Given the description of an element on the screen output the (x, y) to click on. 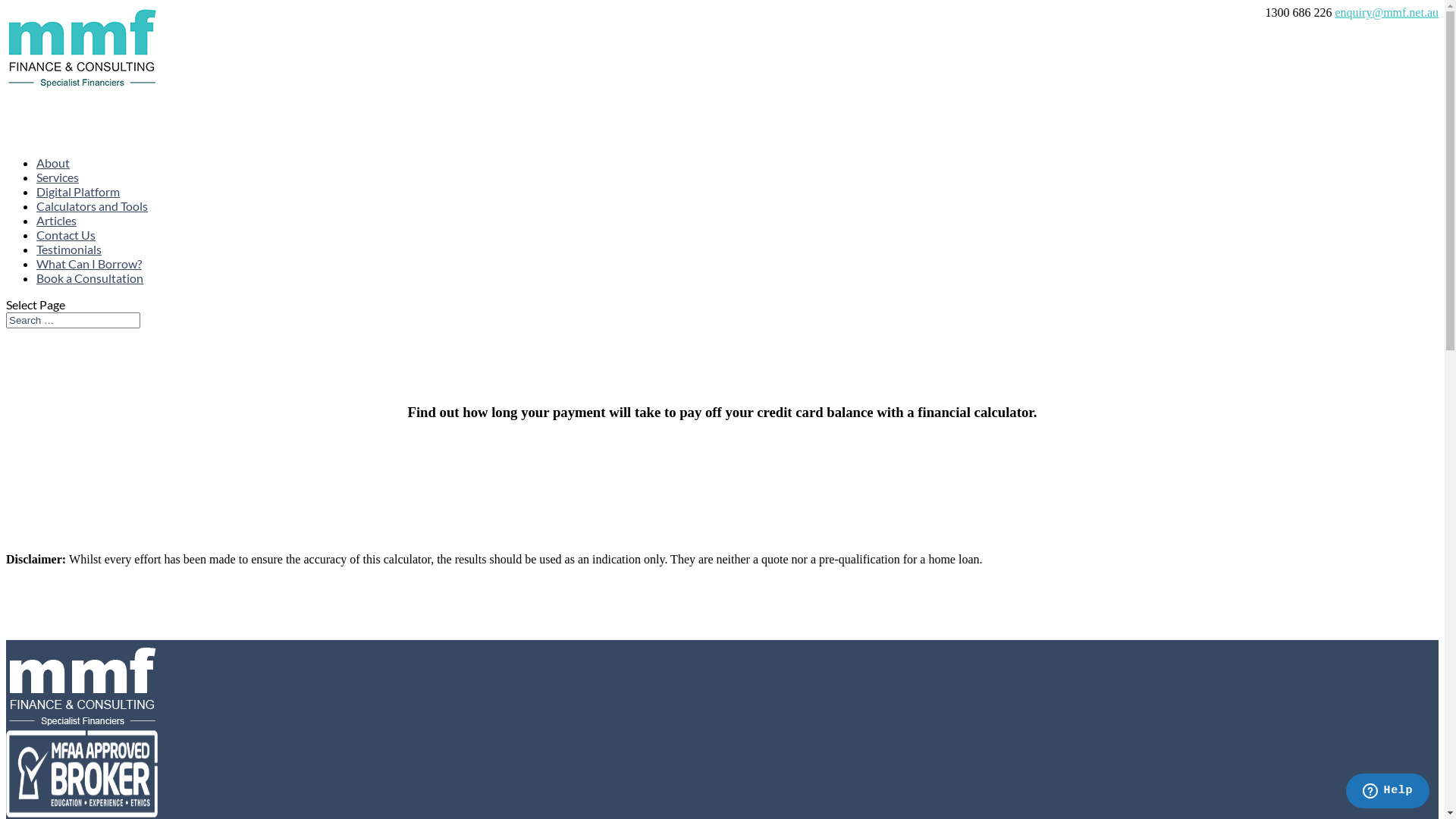
Contact Us Element type: text (65, 258)
Digital Platform Element type: text (77, 215)
Services Element type: text (57, 200)
enquiry@mmf.net.au Element type: text (1386, 12)
Book a Consultation Element type: text (89, 301)
About Element type: text (52, 186)
Testimonials Element type: text (68, 272)
Articles Element type: text (56, 244)
What Can I Borrow? Element type: text (88, 287)
Search for: Element type: hover (73, 320)
Opens a widget where you can find more information Element type: hover (1387, 792)
Calculators and Tools Element type: text (91, 229)
